Given the description of an element on the screen output the (x, y) to click on. 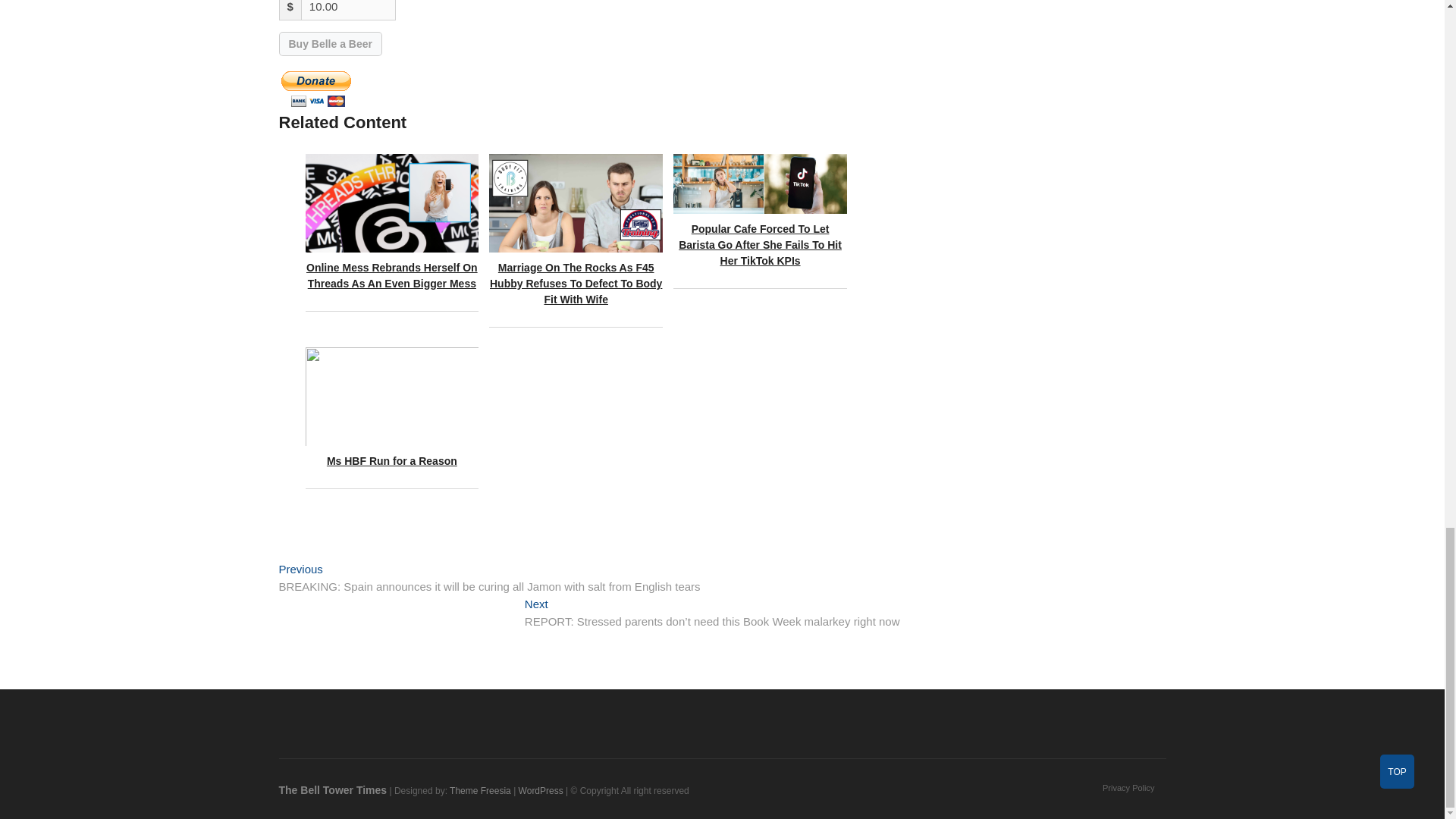
10.00 (348, 10)
